Given the description of an element on the screen output the (x, y) to click on. 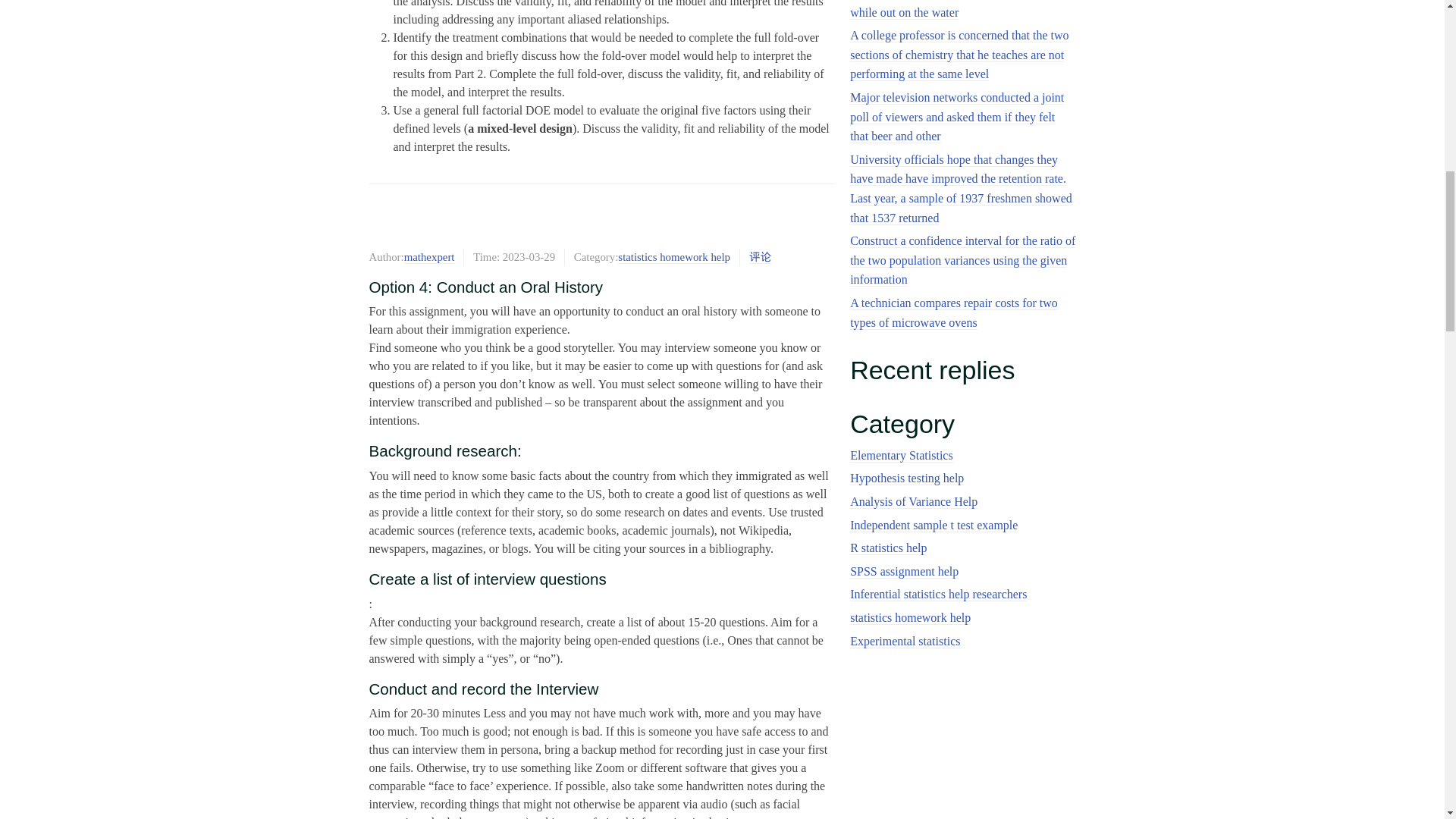
mathexpert (429, 256)
Option 4 Conduct an Oral History (601, 219)
statistics homework help (673, 256)
